Given the description of an element on the screen output the (x, y) to click on. 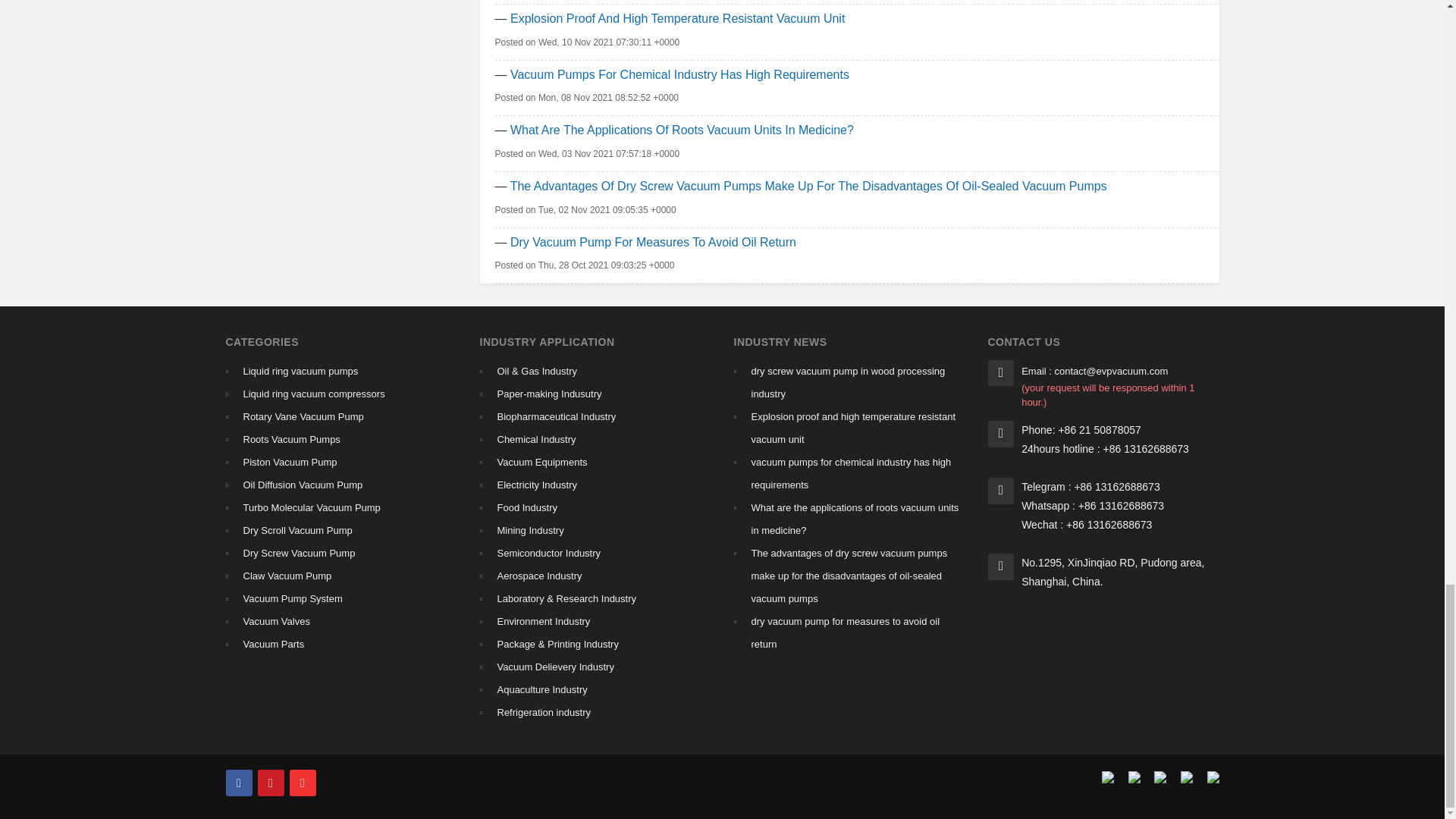
Facebook (238, 782)
PInterest (270, 782)
Youtube (302, 782)
